Given the description of an element on the screen output the (x, y) to click on. 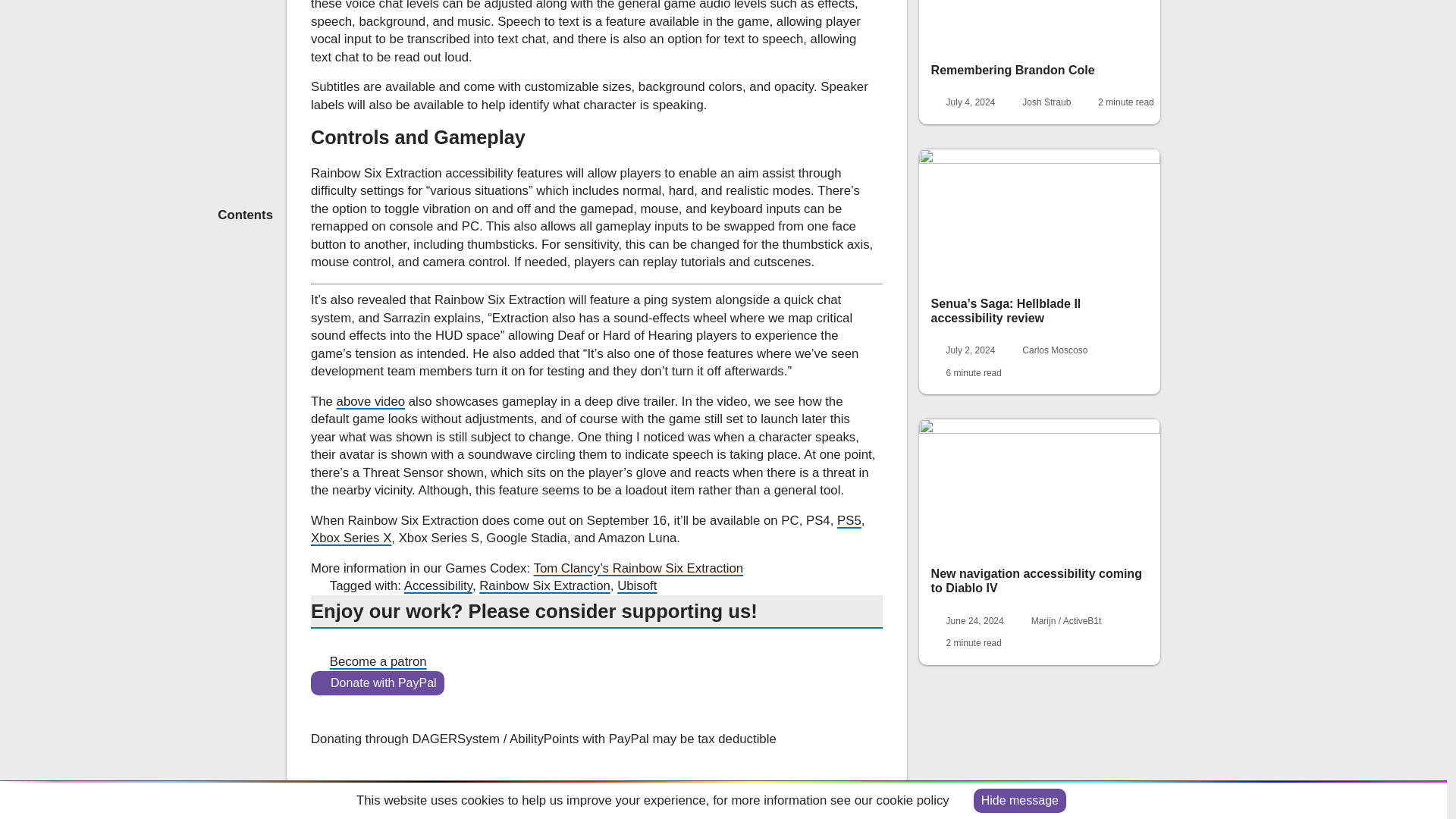
above video (371, 400)
PS5 (849, 520)
